Given the description of an element on the screen output the (x, y) to click on. 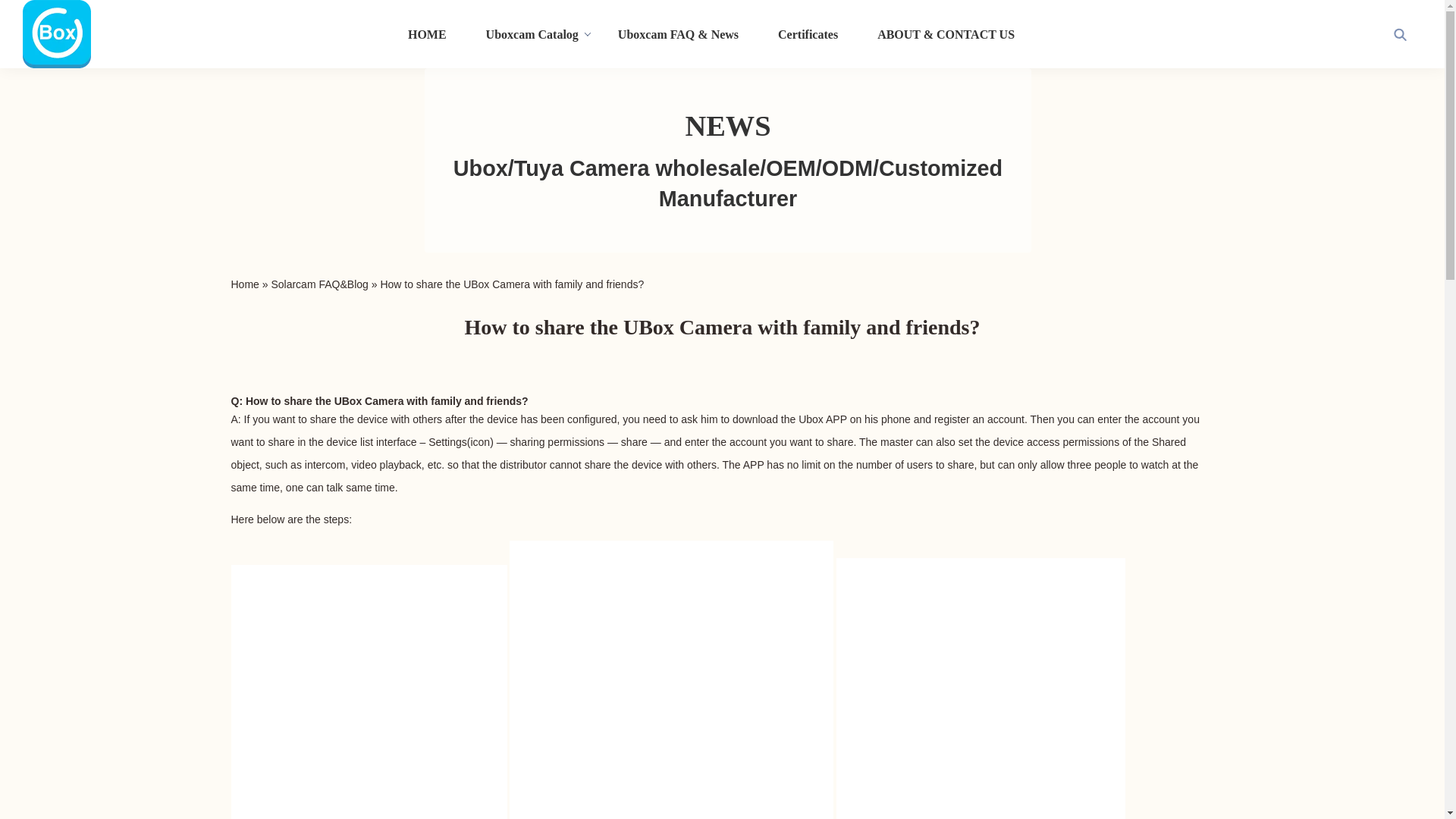
Home (244, 284)
Uboxcam Catalog (532, 33)
Certificates (807, 33)
UBox Camera (369, 400)
HOME (427, 33)
